Given the description of an element on the screen output the (x, y) to click on. 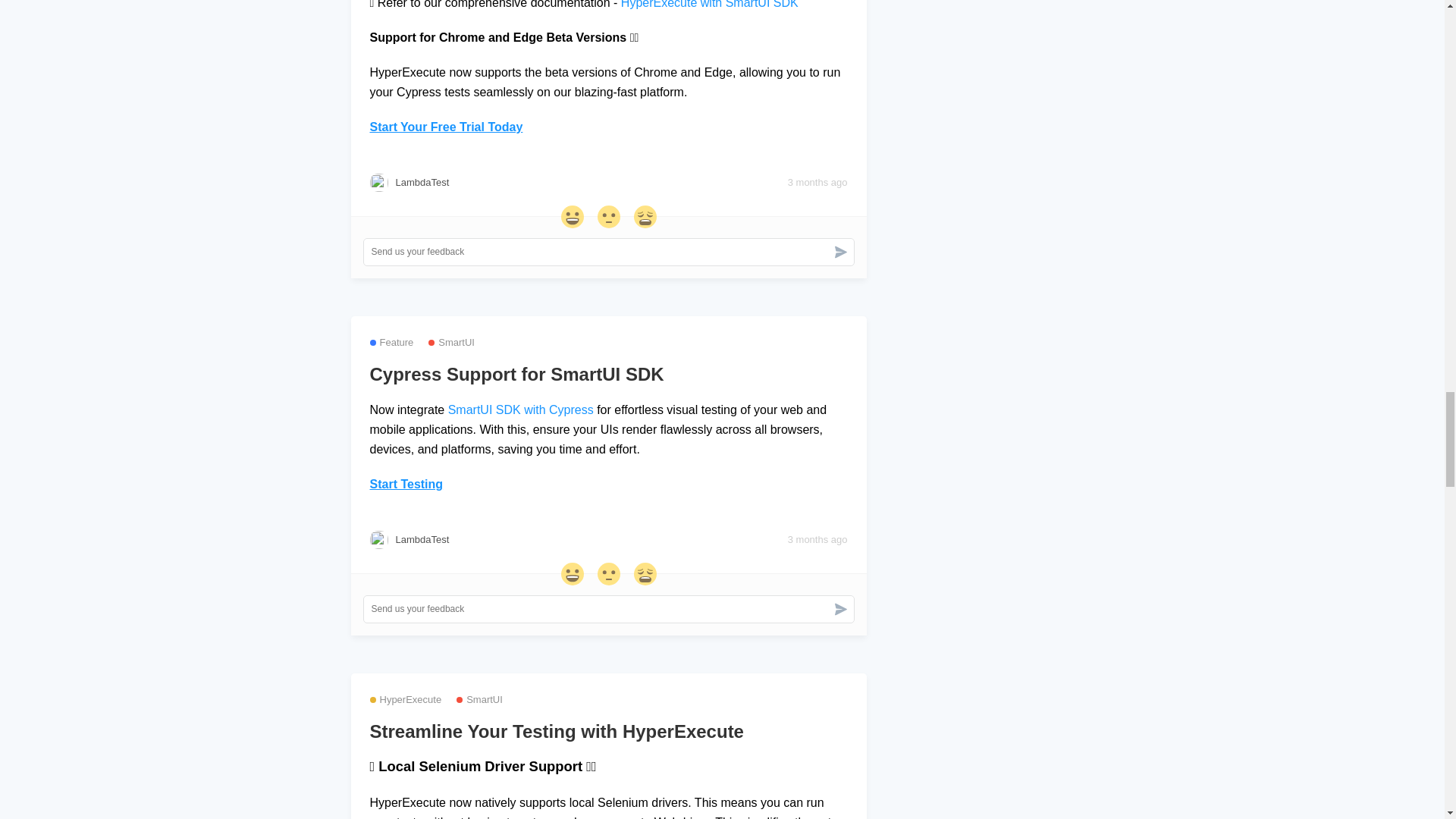
HyperExecute with SmartUI SDK (709, 4)
Start Your Free Trial Today (445, 126)
SmartUI SDK with Cypress (521, 409)
Start Testing (406, 483)
Cypress Support for SmartUI SDK (608, 373)
3 months ago (817, 182)
